Given the description of an element on the screen output the (x, y) to click on. 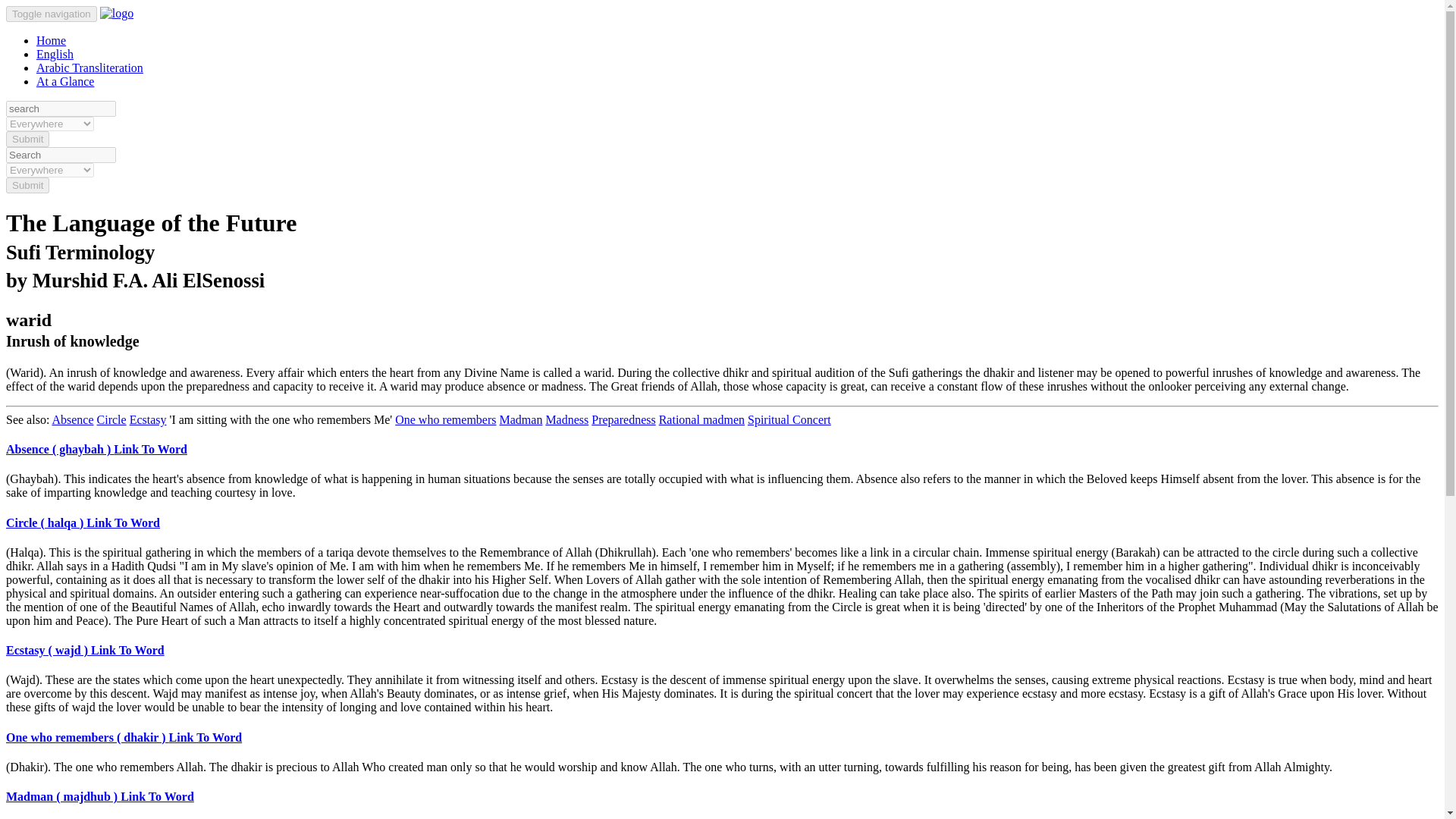
Link To Word (122, 522)
Arabic Transliteration (89, 67)
Spiritual Concert (789, 419)
Link To Word (156, 796)
Rational madmen (701, 419)
English (55, 53)
Submit (27, 185)
Preparedness (623, 419)
Link To Word (150, 449)
Ecstasy (148, 419)
One who remembers (445, 419)
Madman (520, 419)
Home (50, 40)
Link To Word (127, 649)
Toggle navigation (51, 13)
